Given the description of an element on the screen output the (x, y) to click on. 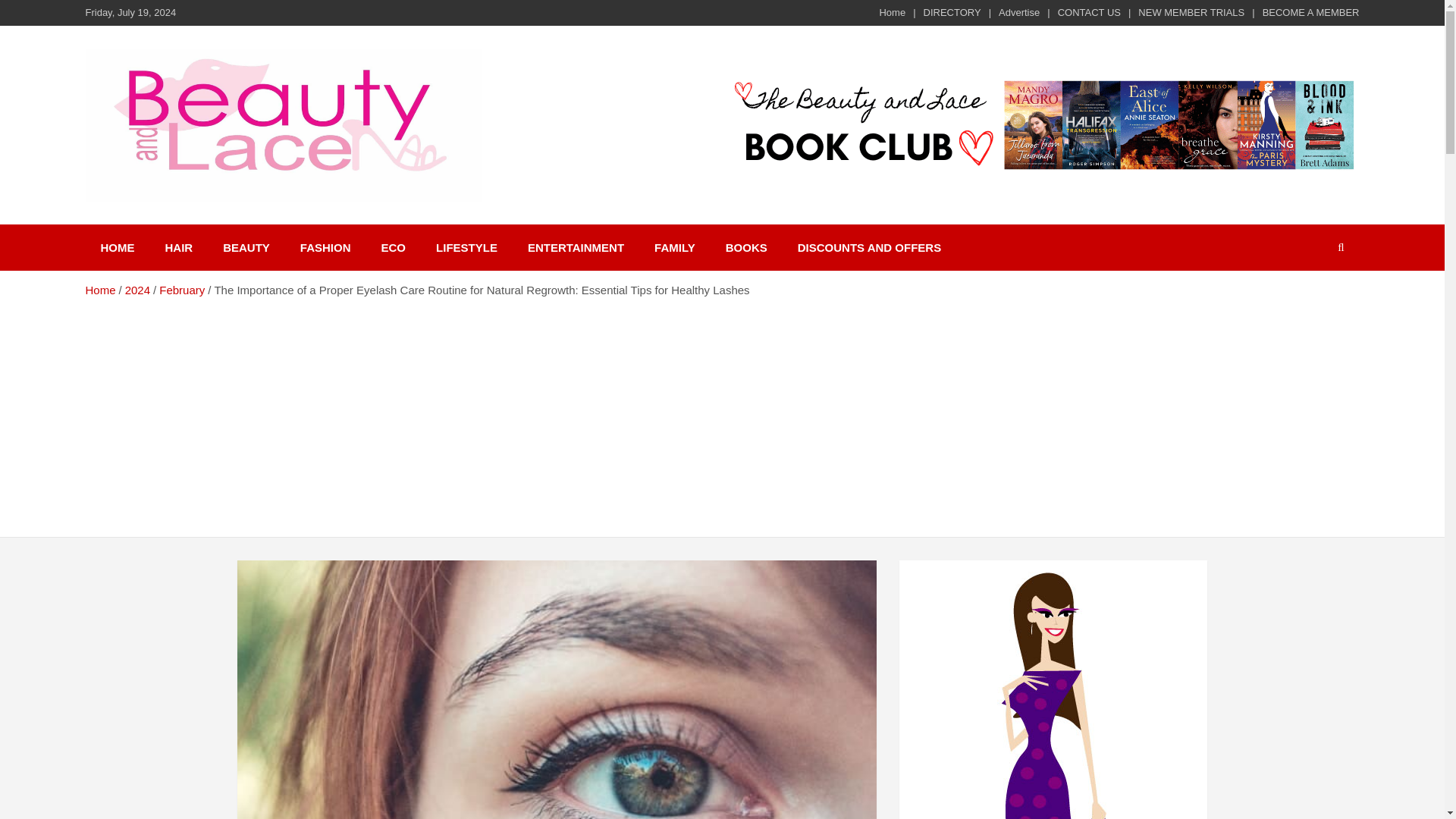
CONTACT US (1089, 12)
BECOME A MEMBER (1310, 12)
LIFESTYLE (466, 247)
FAMILY (674, 247)
HAIR (178, 247)
NEW MEMBER TRIALS (1191, 12)
BEAUTY (246, 247)
ENTERTAINMENT (575, 247)
DISCOUNTS AND OFFERS (869, 247)
FASHION (325, 247)
Home (892, 12)
February (181, 289)
Beauty and Lace Online Magazine (256, 240)
2024 (137, 289)
